Given the description of an element on the screen output the (x, y) to click on. 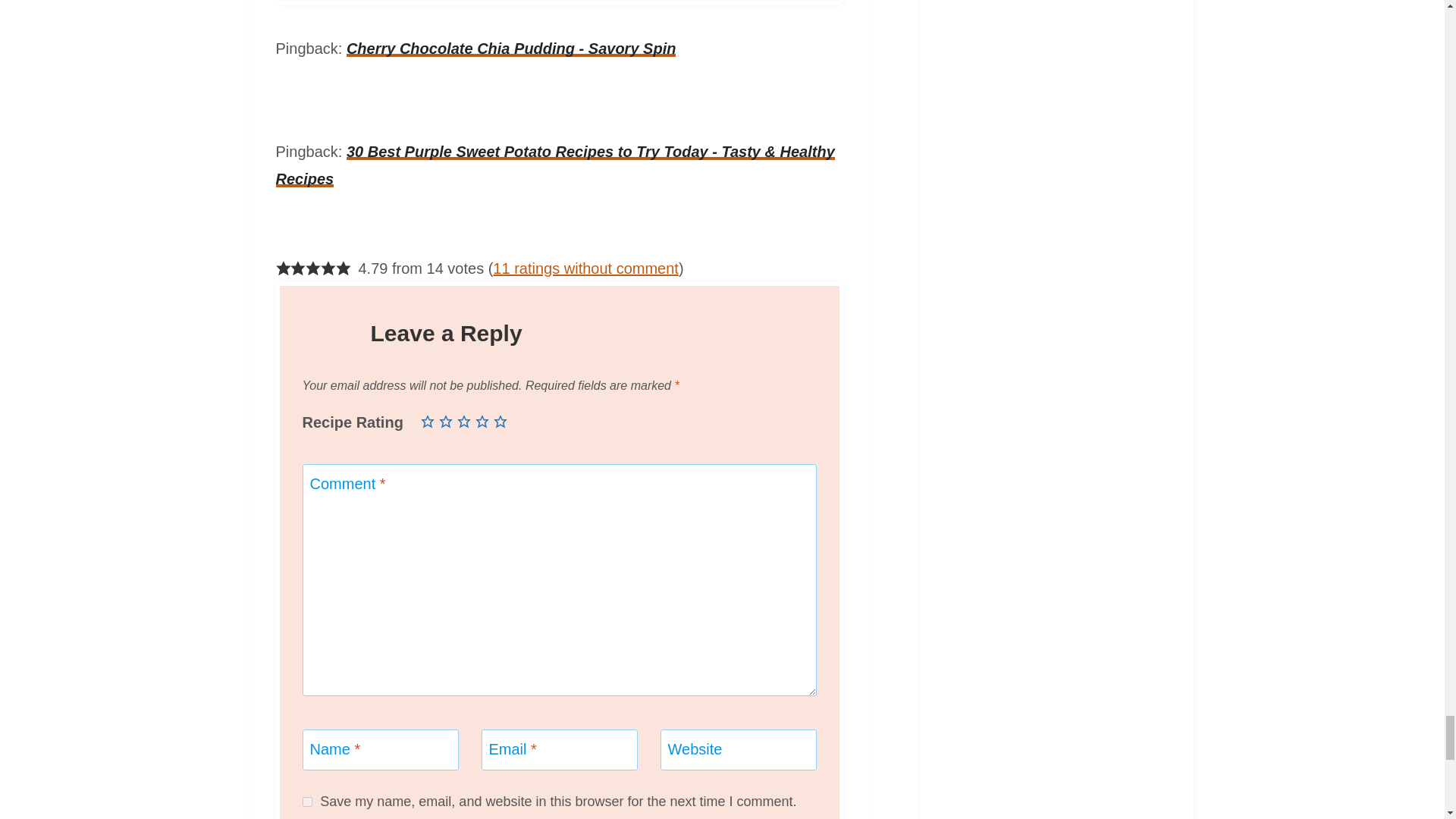
yes (306, 801)
